Given the description of an element on the screen output the (x, y) to click on. 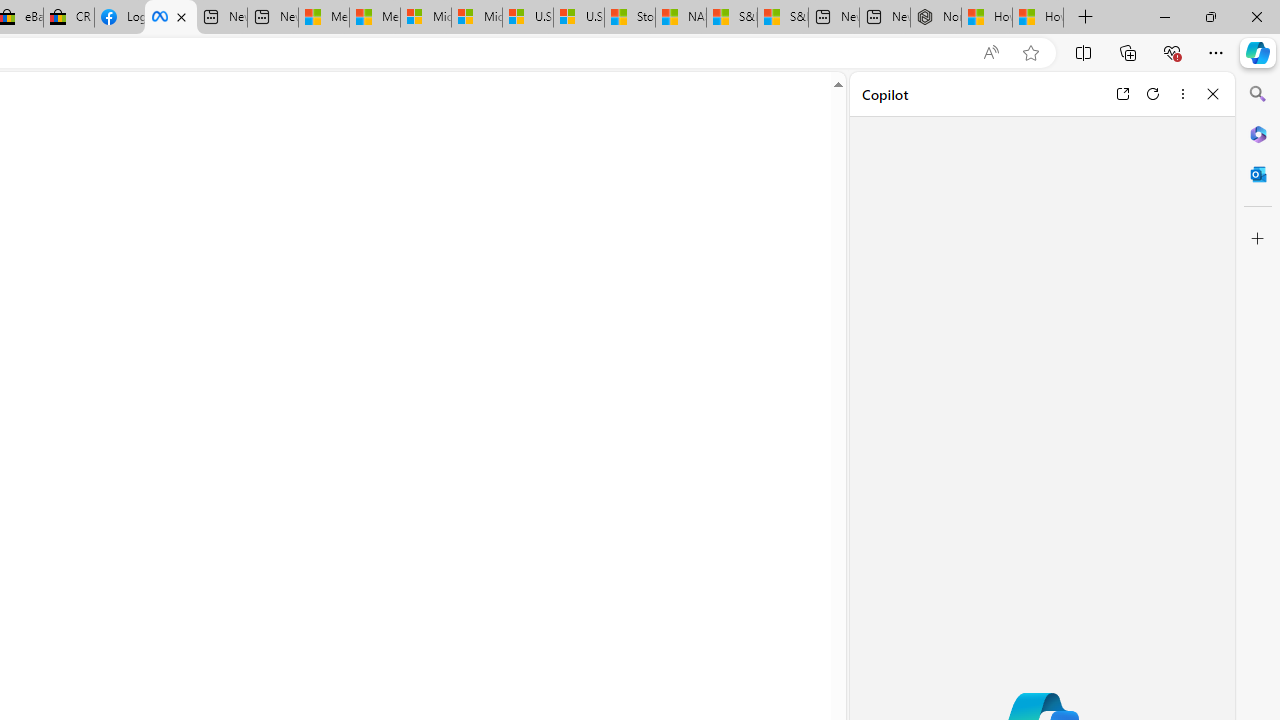
Customize (1258, 239)
How to Use a Monitor With Your Closed Laptop (1037, 17)
Log into Facebook (119, 17)
Microsoft 365 (1258, 133)
